Given the description of an element on the screen output the (x, y) to click on. 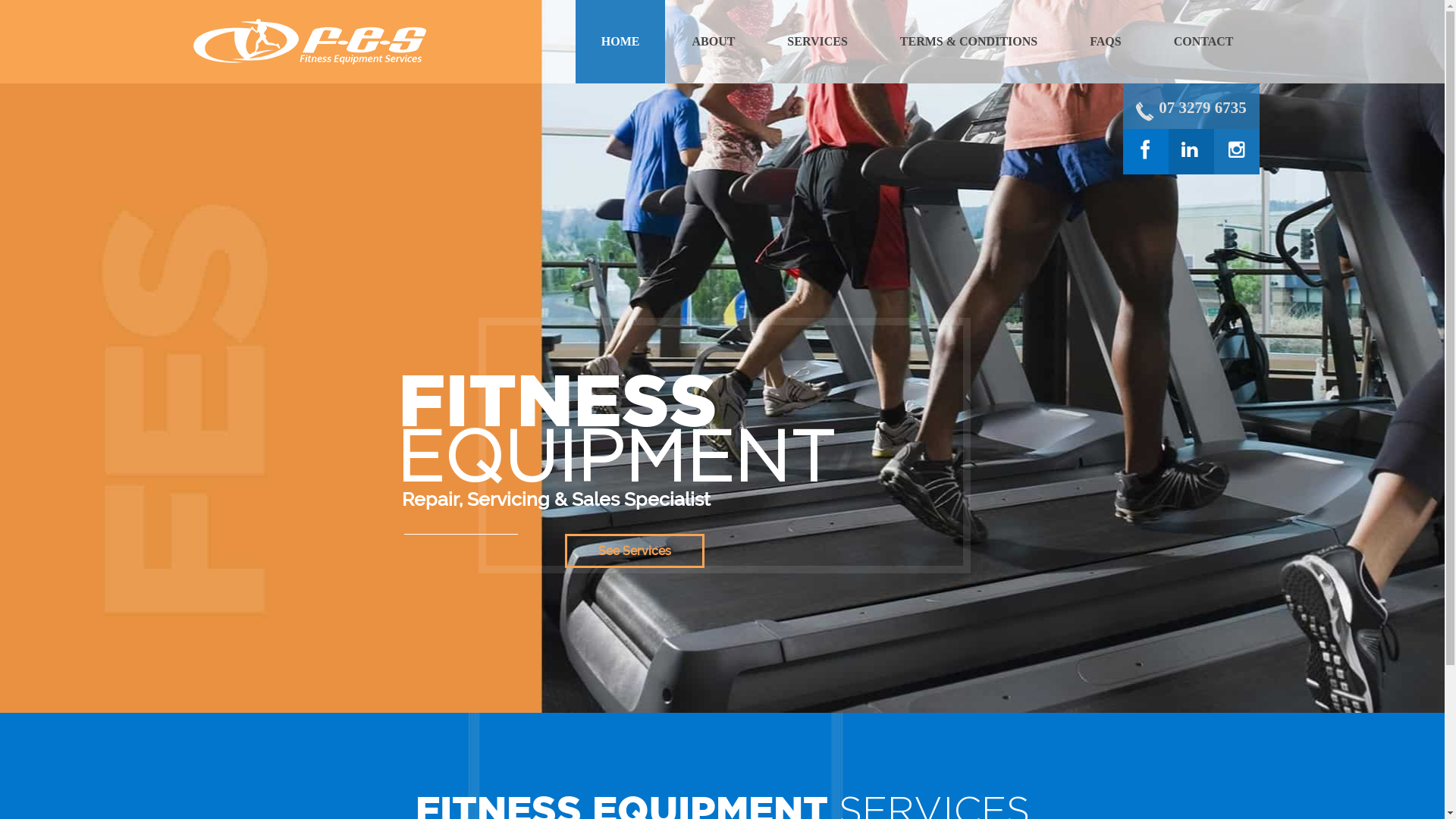
HOME Element type: text (620, 41)
FAQS Element type: text (1104, 41)
linkedin Element type: hover (1175, 141)
See Services Element type: text (634, 550)
07 3279 6735 Element type: text (1202, 107)
facebook Element type: hover (1131, 141)
instagram Element type: hover (1221, 141)
Repair, Servicing & Sales Specialist Element type: hover (308, 41)
ABOUT Element type: text (712, 41)
CONTACT Element type: text (1203, 41)
SERVICES Element type: text (816, 41)
TERMS & CONDITIONS Element type: text (968, 41)
